Given the description of an element on the screen output the (x, y) to click on. 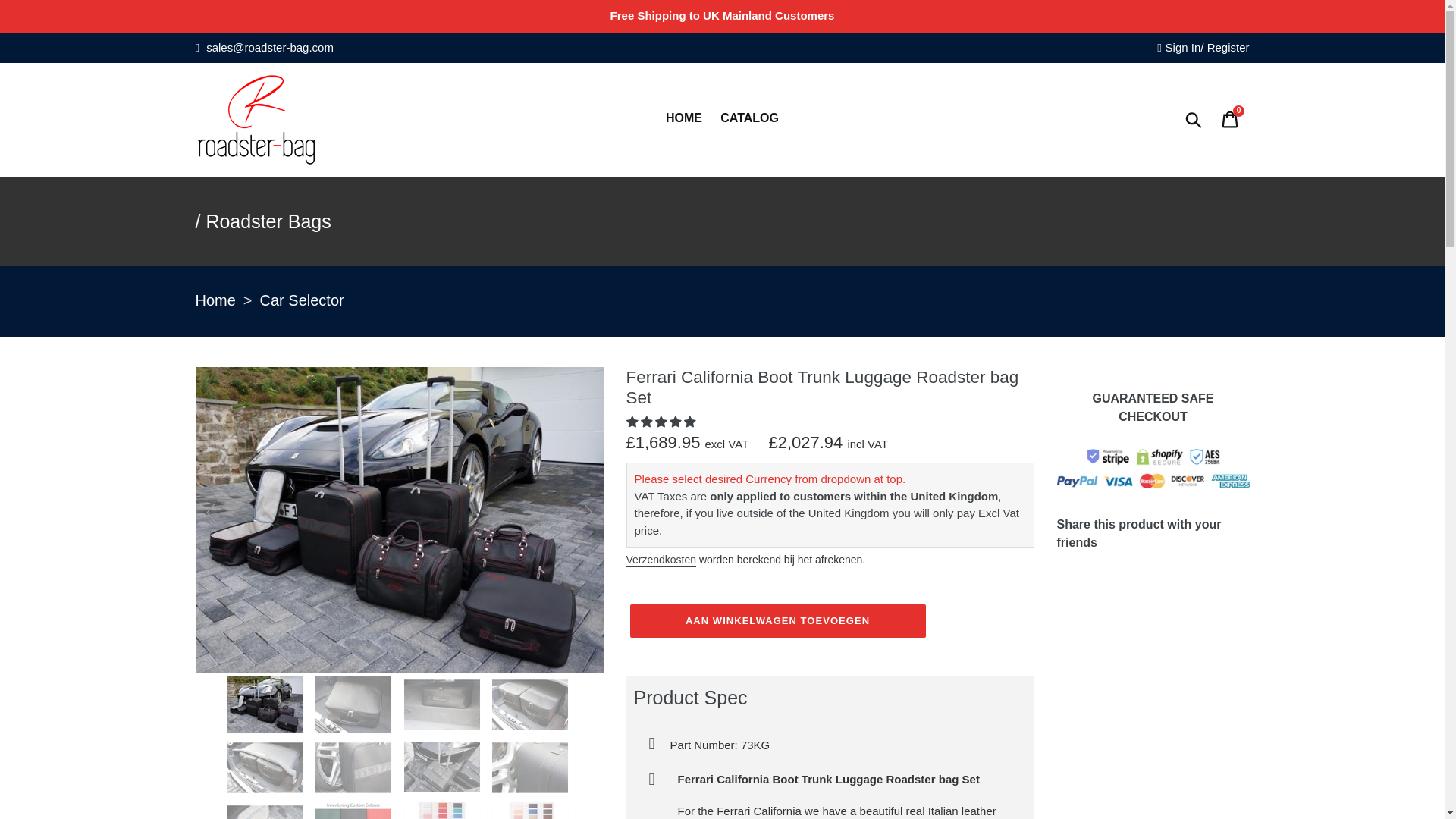
HOME (684, 119)
Ferrari California Boot Trunk Luggage Roadster bag Set (354, 704)
Ferrari California Boot Trunk Luggage Roadster bag Set (531, 766)
Ferrari California Boot Trunk Luggage Roadster bag Set (354, 810)
Ferrari California Boot Trunk Luggage Roadster bag Set (266, 704)
Car Selector (301, 301)
Home (215, 301)
Ferrari California Boot Trunk Luggage Roadster bag Set (266, 766)
Ferrari California Boot Trunk Luggage Roadster bag Set (443, 704)
Ferrari California Boot Trunk Luggage Roadster bag Set (266, 810)
Ferrari California Boot Trunk Luggage Roadster bag Set (399, 668)
CATALOG (278, 20)
CATALOG (749, 119)
Ferrari California Boot Trunk Luggage Roadster bag Set (531, 704)
Ferrari California Boot Trunk Luggage Roadster bag Set (443, 810)
